Given the description of an element on the screen output the (x, y) to click on. 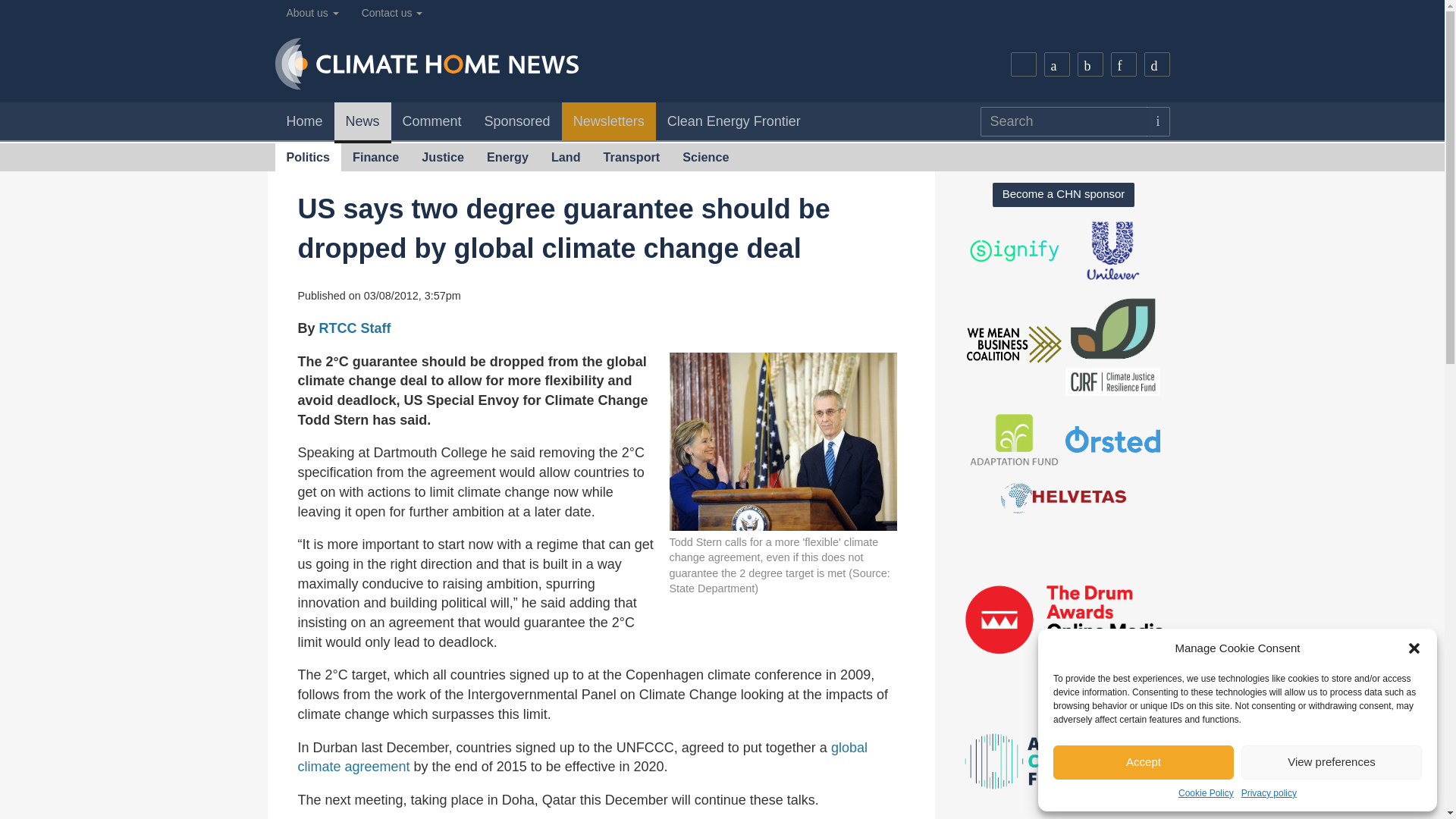
Home (304, 121)
Privacy policy (1269, 793)
Durban Platform negotiations: A long way to go (581, 757)
Contact us (391, 13)
Comment (432, 121)
View preferences (1331, 762)
Cookie Policy (1205, 793)
About us (312, 13)
Accept (1142, 762)
Sponsored (517, 121)
News (362, 122)
